Given the description of an element on the screen output the (x, y) to click on. 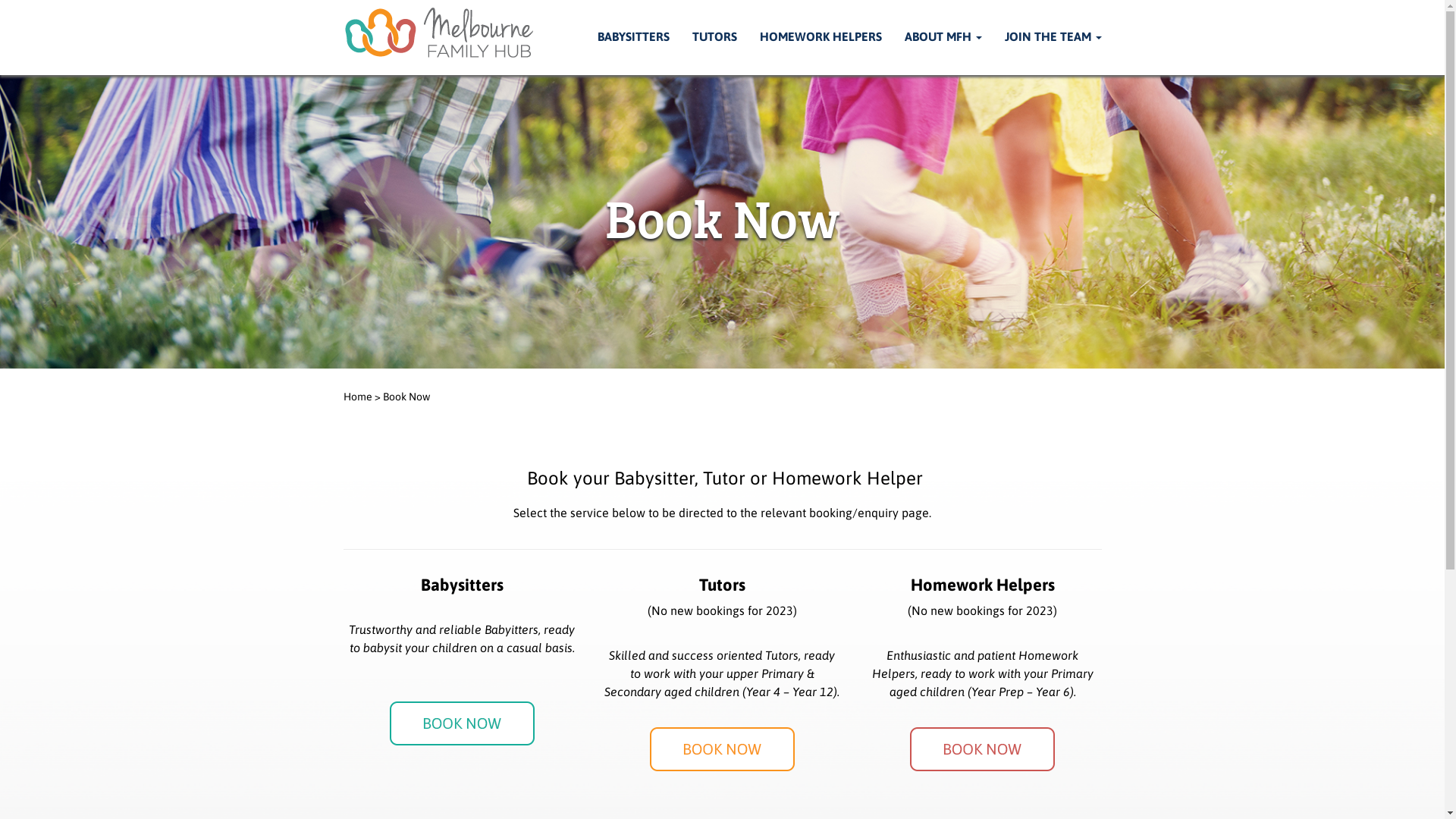
BABYSITTERS Element type: text (633, 37)
Home Element type: text (356, 396)
HOMEWORK HELPERS Element type: text (820, 37)
Melbourne Family Hub Element type: hover (442, 36)
ABOUT MFH Element type: text (942, 37)
JOIN THE TEAM Element type: text (1052, 37)
TUTORS Element type: text (713, 37)
